Given the description of an element on the screen output the (x, y) to click on. 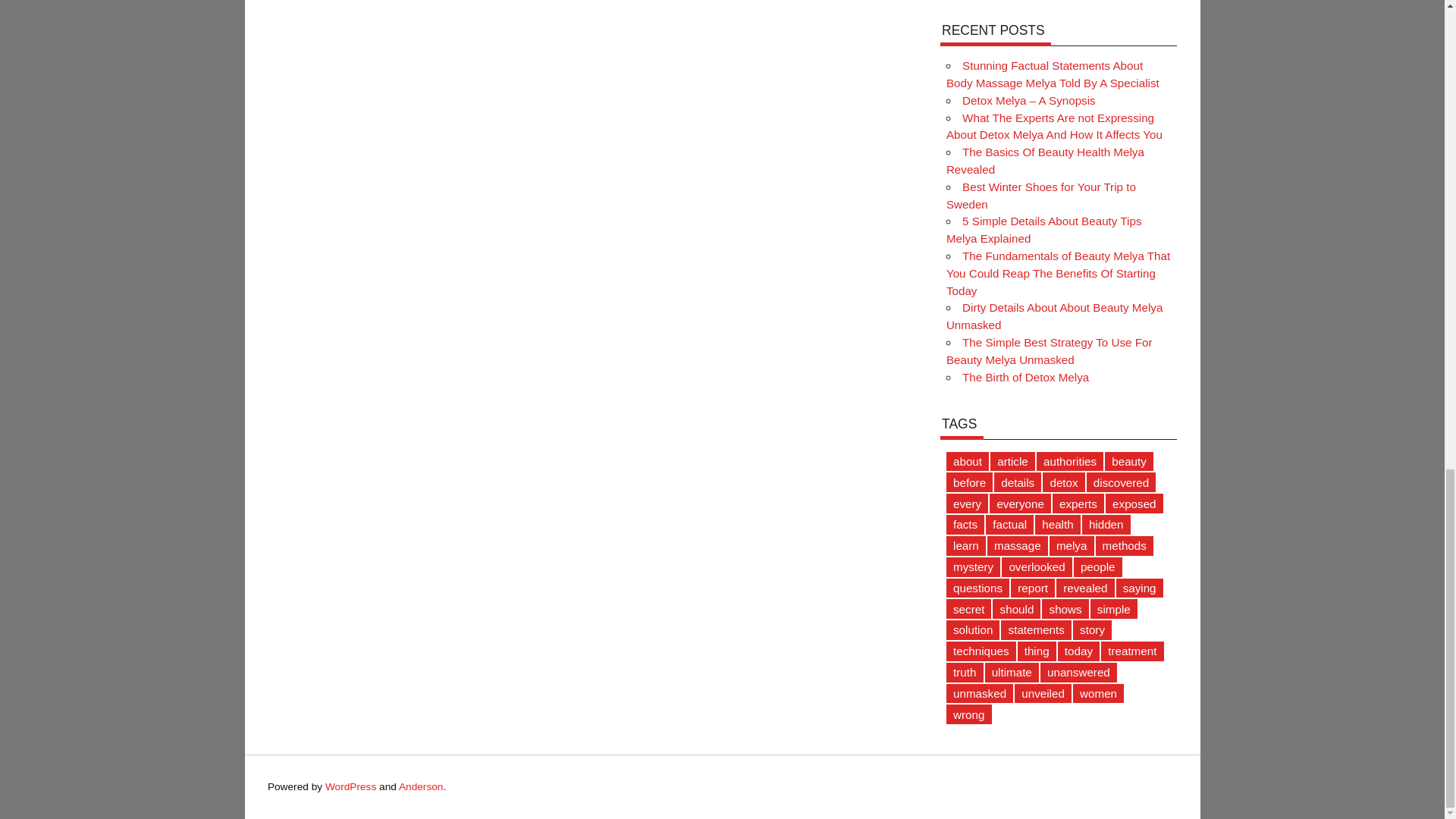
Anderson WordPress Theme (421, 786)
WordPress (349, 786)
